Given the description of an element on the screen output the (x, y) to click on. 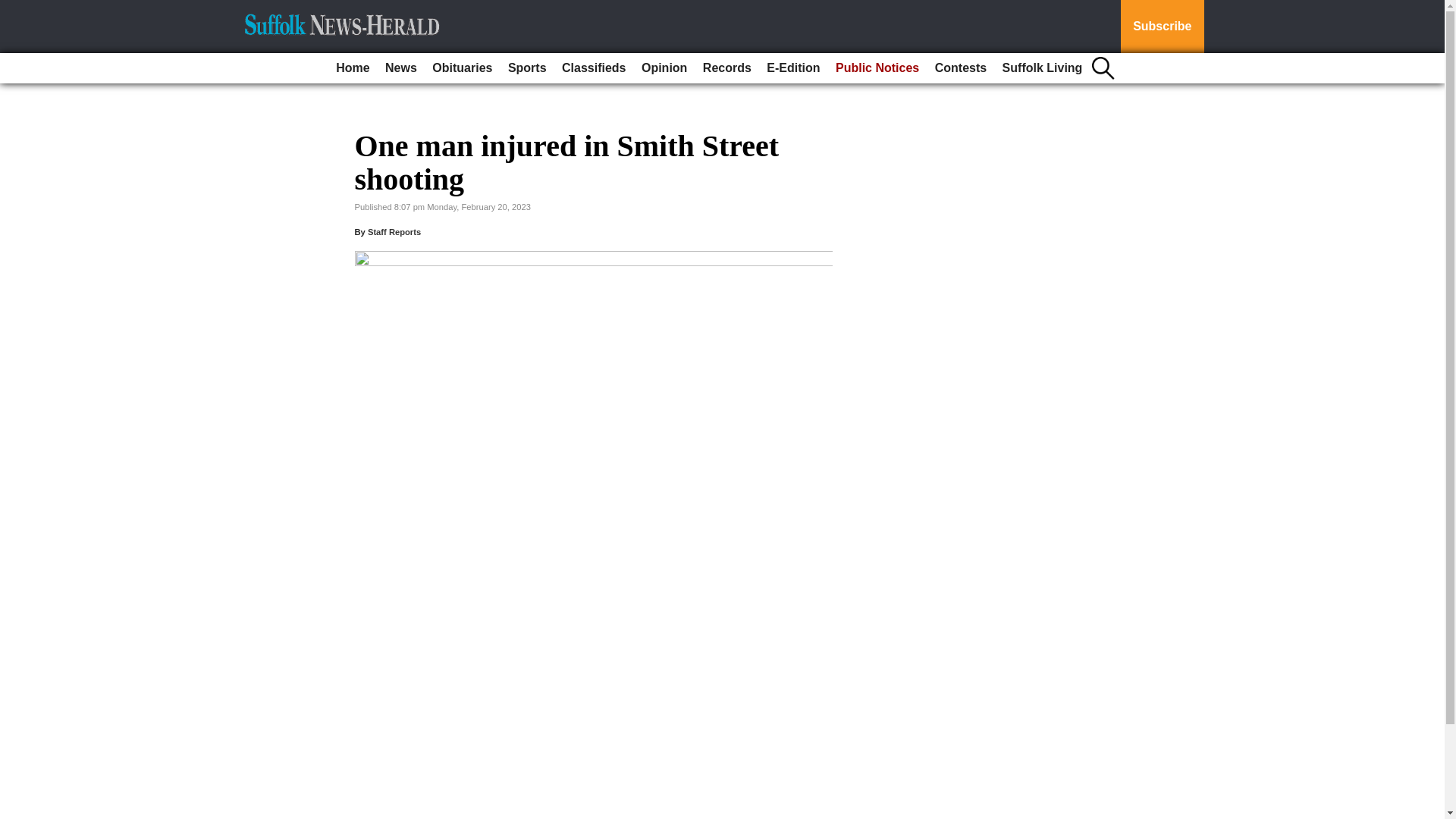
Sports (527, 68)
Opinion (663, 68)
Obituaries (461, 68)
Classifieds (593, 68)
Subscribe (1162, 26)
Home (352, 68)
Staff Reports (394, 231)
Go (13, 9)
News (400, 68)
E-Edition (792, 68)
Records (727, 68)
Contests (960, 68)
Suffolk Living (1042, 68)
Public Notices (876, 68)
